Given the description of an element on the screen output the (x, y) to click on. 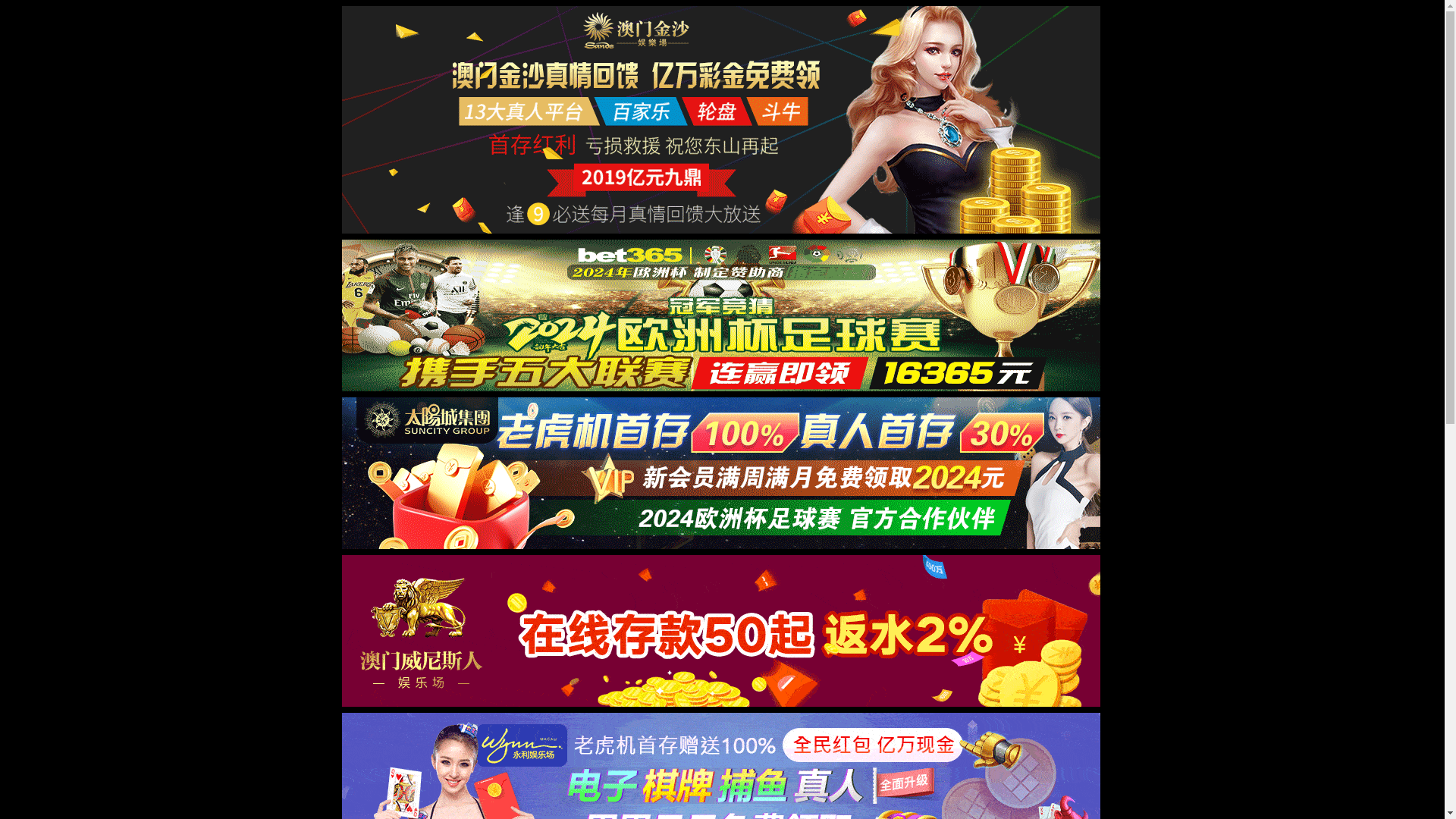
About us (733, 31)
Products (903, 31)
Partner (842, 31)
News (789, 31)
Contact us (1191, 31)
Home (675, 31)
HR (1136, 31)
Case Study (972, 31)
Corporate culture (1064, 31)
